Given the description of an element on the screen output the (x, y) to click on. 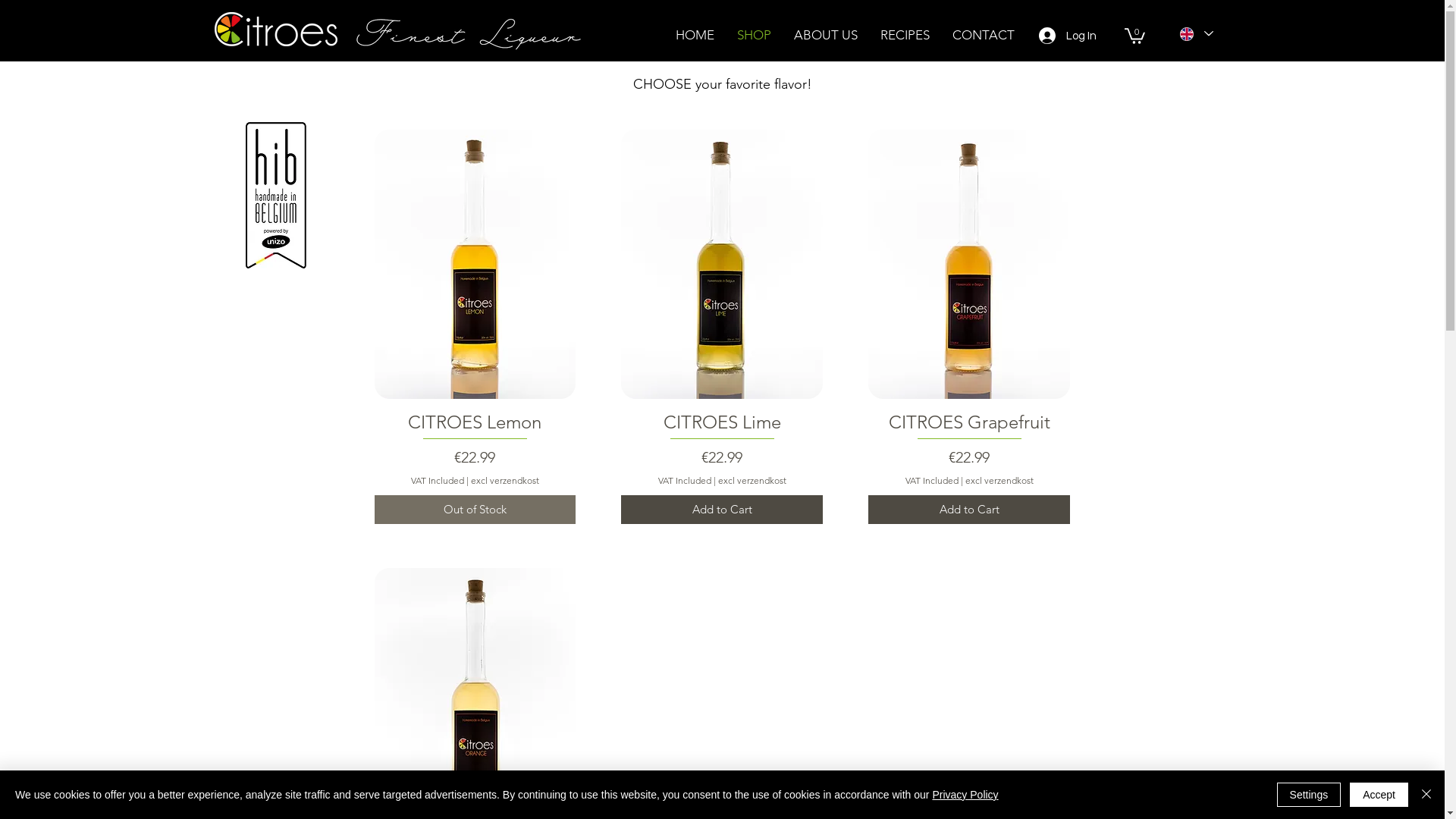
Add to Cart Element type: text (969, 509)
HOME Element type: text (694, 34)
ABOUT US Element type: text (825, 34)
excl verzendkost Element type: text (752, 480)
excl verzendkost Element type: text (504, 480)
Accept Element type: text (1378, 794)
Privacy Policy Element type: text (964, 794)
excl verzendkost Element type: text (999, 480)
Settings Element type: text (1309, 794)
RECIPES Element type: text (905, 34)
0 Element type: text (1133, 34)
Log In Element type: text (1054, 35)
Add to Cart Element type: text (721, 509)
Out of Stock Element type: text (475, 509)
CONTACT Element type: text (982, 34)
SHOP Element type: text (752, 34)
